Given the description of an element on the screen output the (x, y) to click on. 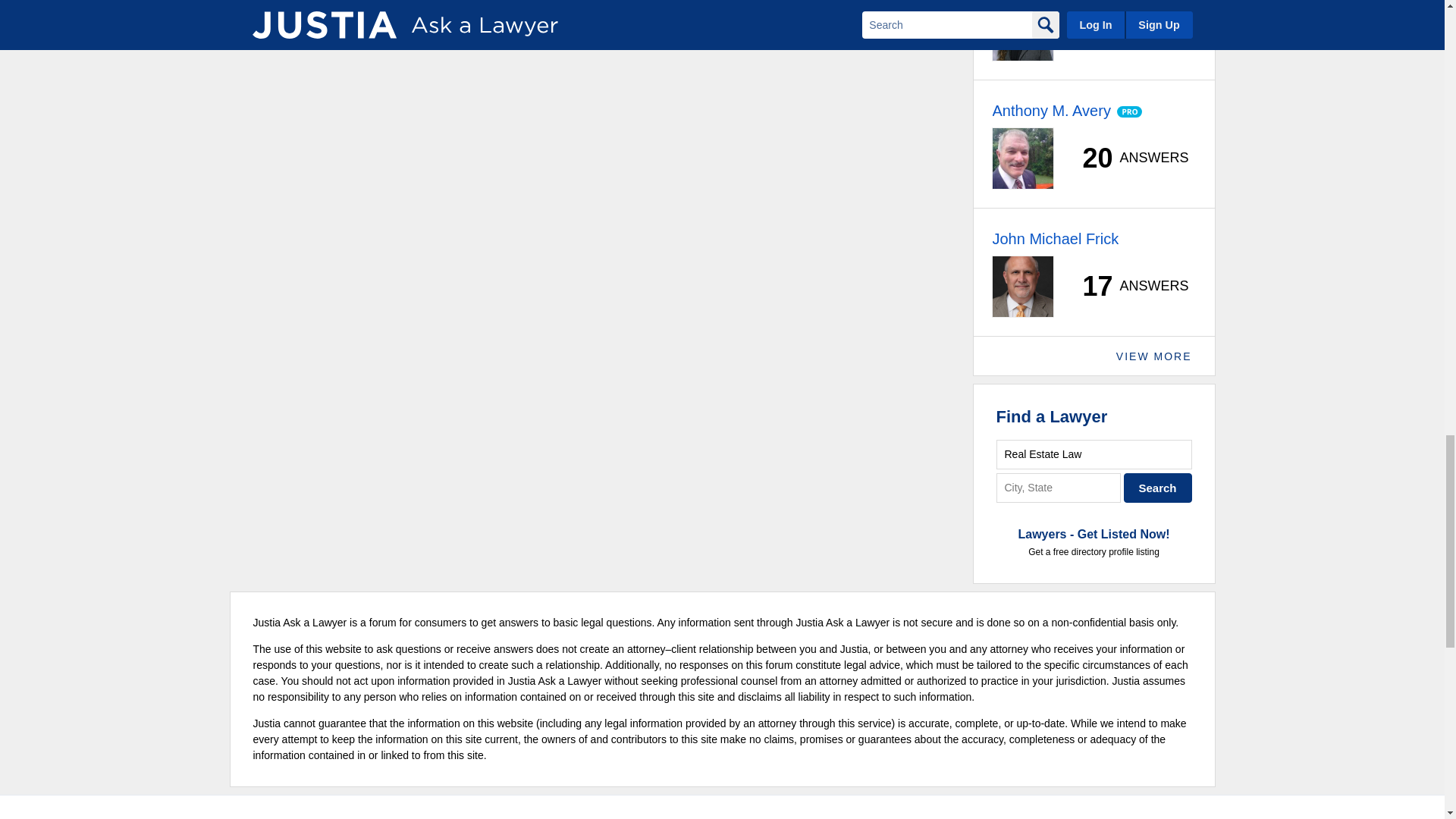
Ask a Lawyer - Leaderboard - Lawyer Photo (1021, 158)
Search (1158, 487)
Ask a Lawyer - Leaderboard - Lawyer Photo (1021, 30)
Ask a Lawyer - Leaderboard - Lawyer Name (1050, 110)
Search (1158, 487)
Real Estate Law (1093, 454)
Ask a Lawyer - Leaderboard - Lawyer Stats (1127, 30)
